Given the description of an element on the screen output the (x, y) to click on. 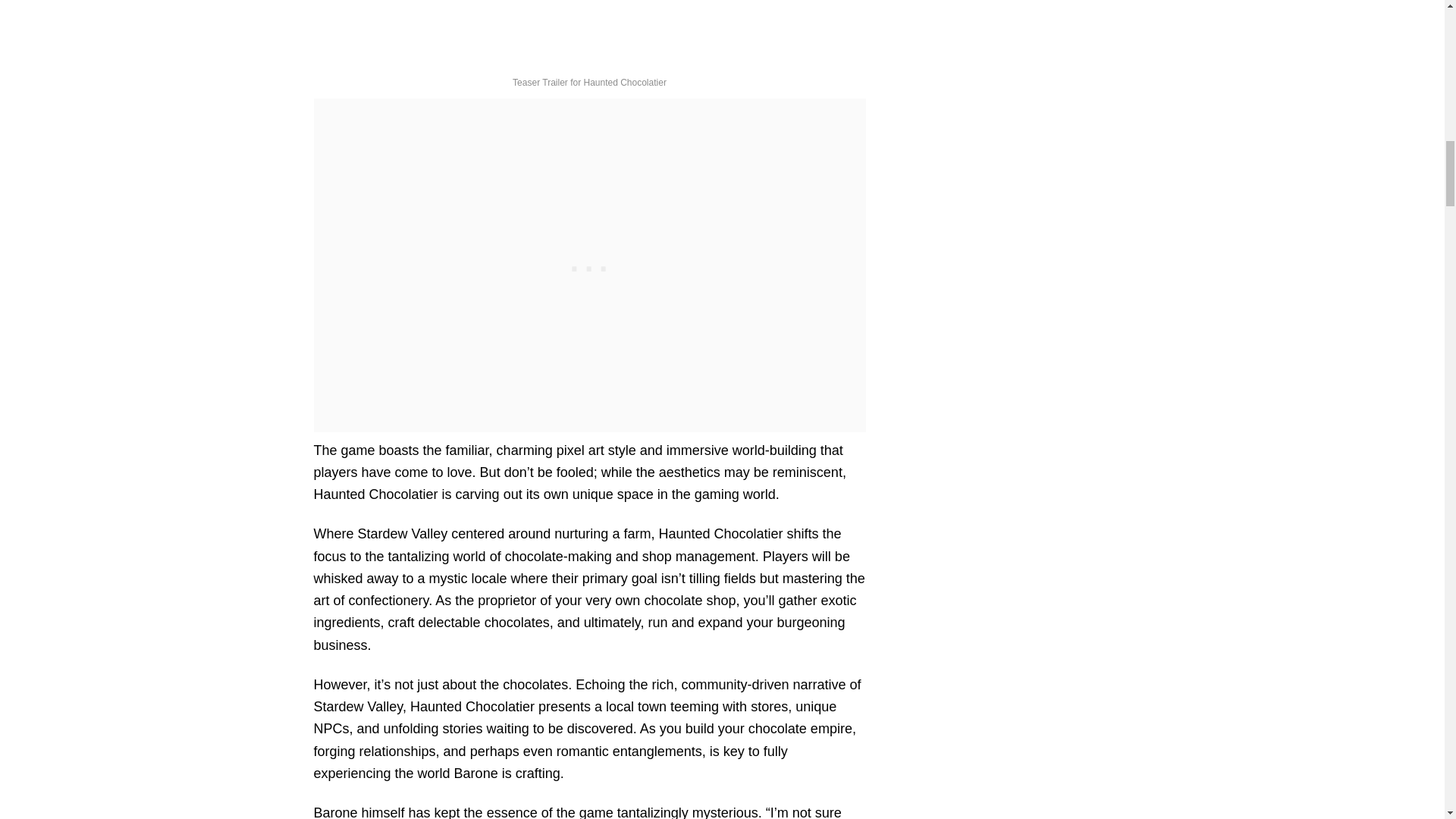
ConcernedApe's Haunted Chocolatier -- Early Gameplay (526, 32)
